Given the description of an element on the screen output the (x, y) to click on. 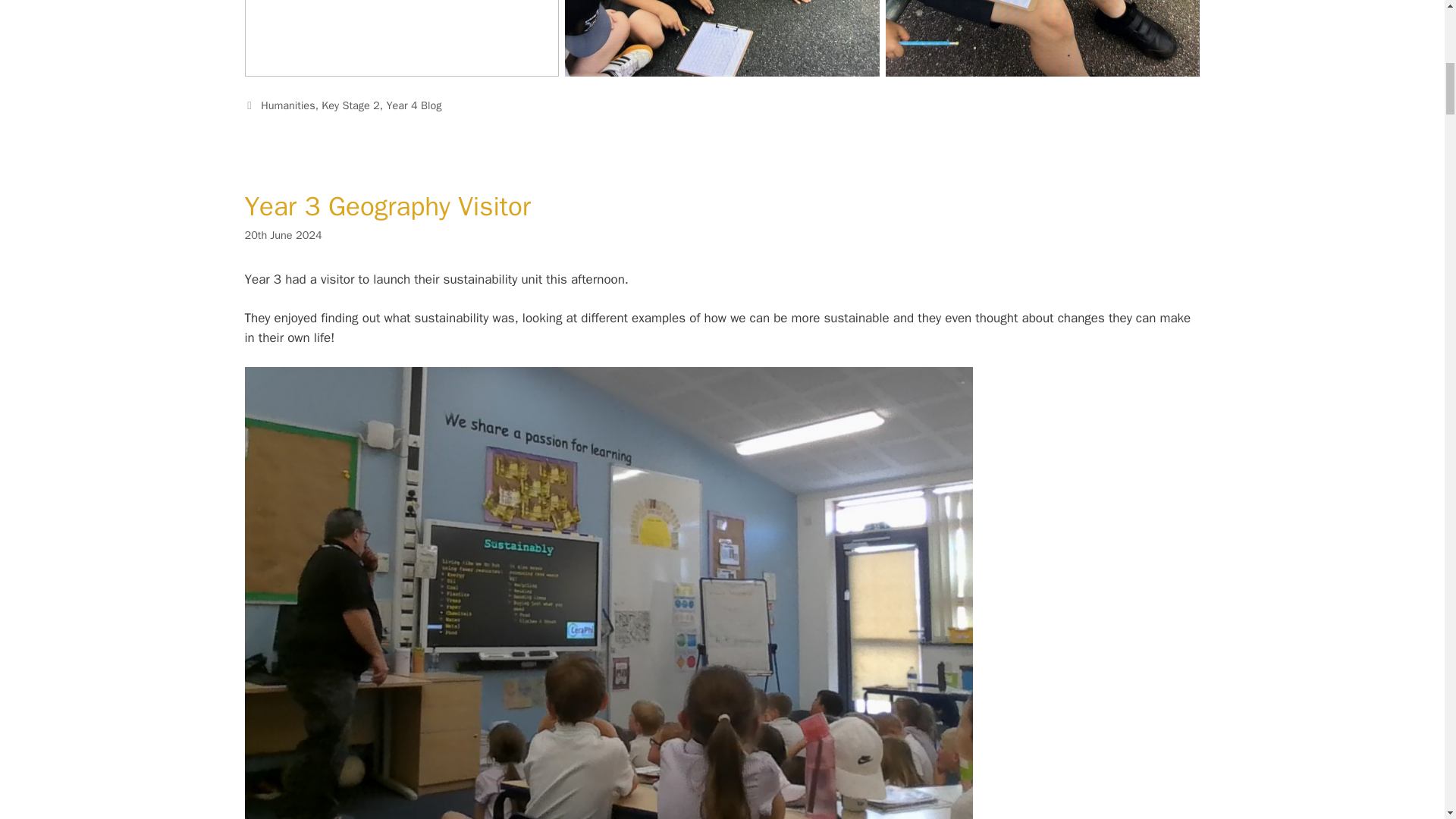
Scroll back to top (1406, 720)
